Given the description of an element on the screen output the (x, y) to click on. 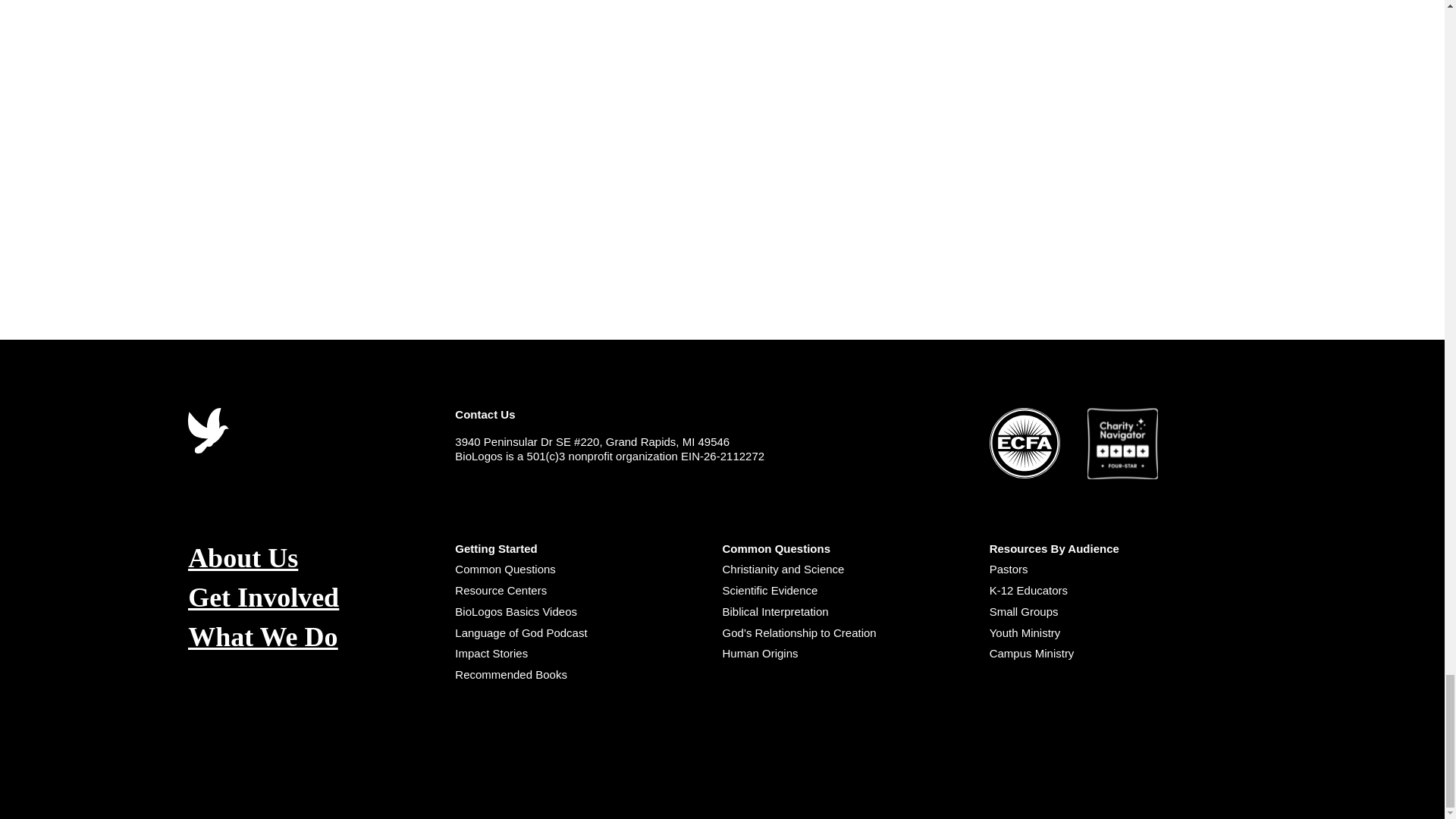
About Us (320, 558)
